Given the description of an element on the screen output the (x, y) to click on. 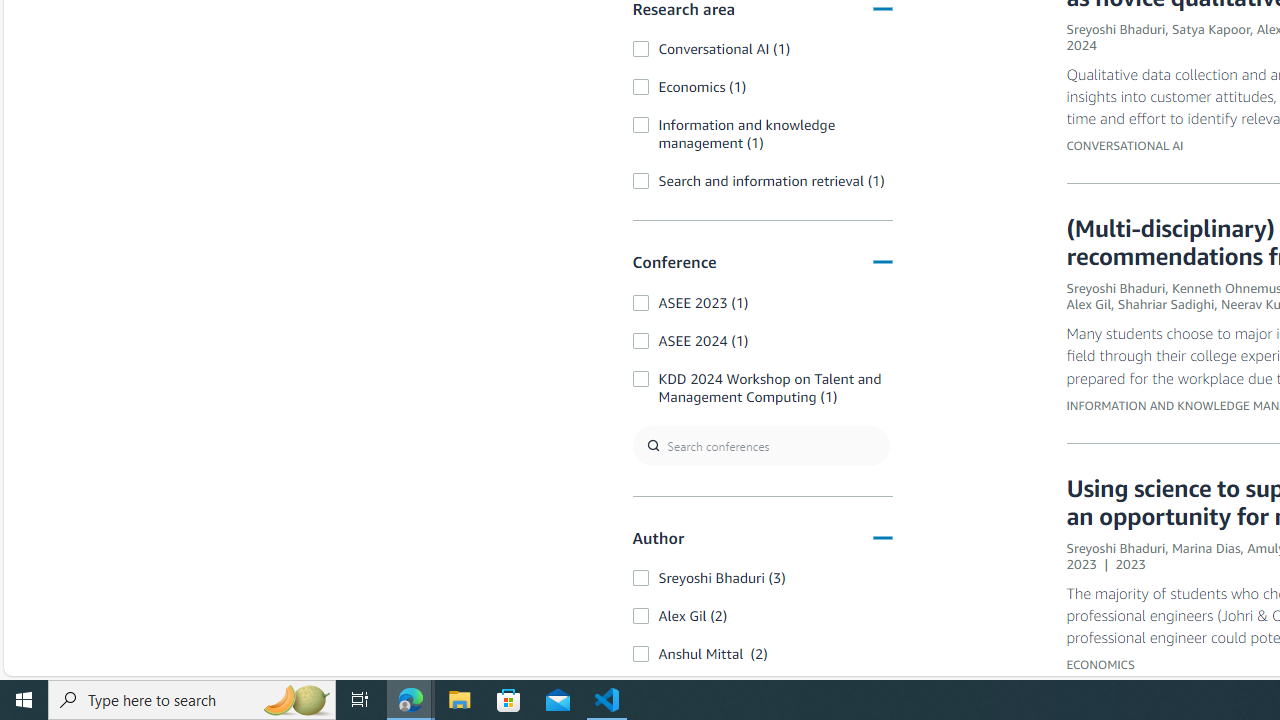
Marina Dias (1206, 547)
Search conferences (760, 444)
Shahriar Sadighi (1165, 304)
